Given the description of an element on the screen output the (x, y) to click on. 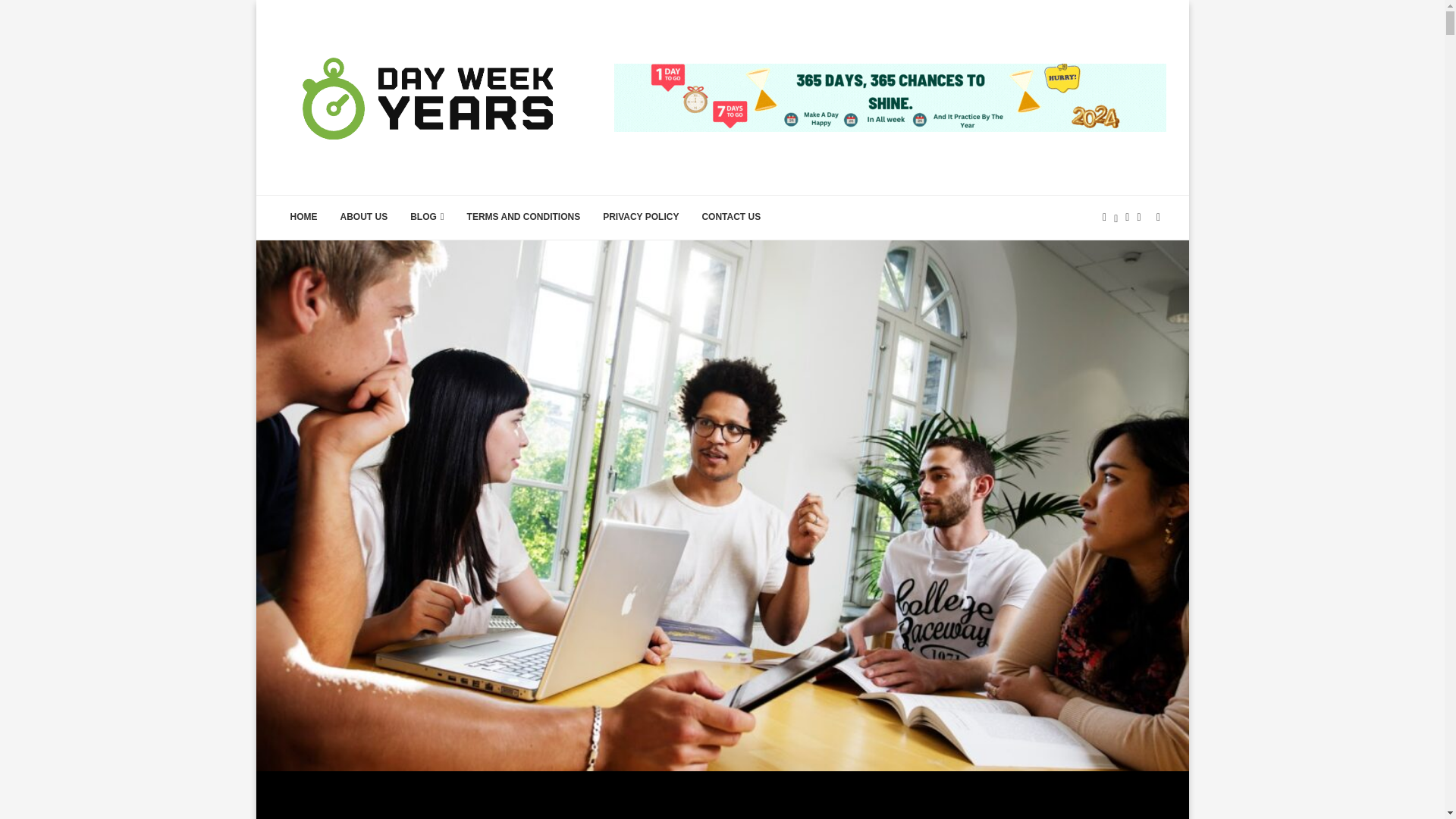
ABOUT US (363, 217)
HOME (304, 217)
BLOG (426, 217)
